Given the description of an element on the screen output the (x, y) to click on. 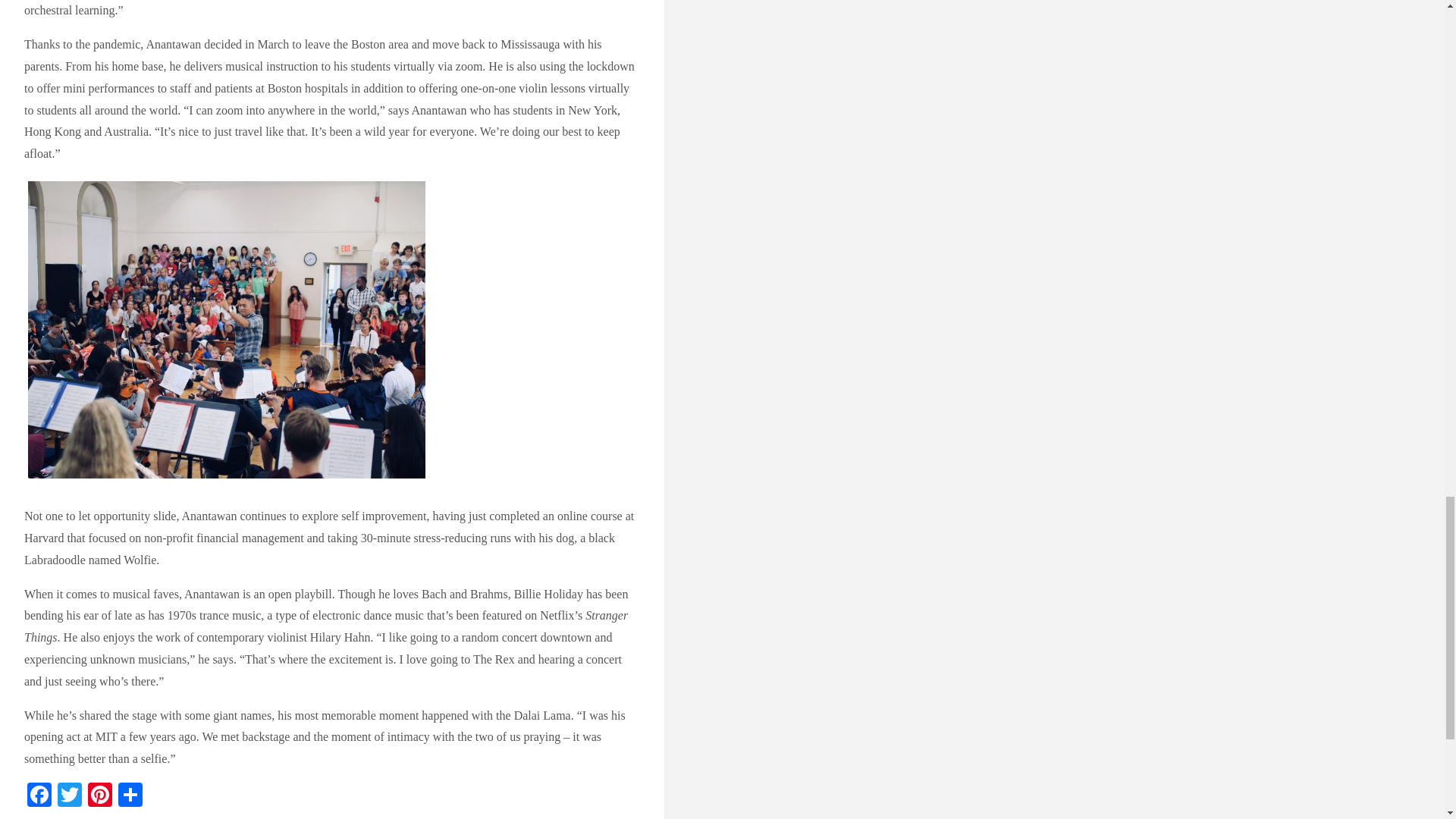
Share (130, 796)
Twitter (69, 796)
Pinterest (99, 796)
Twitter (69, 796)
Pinterest (99, 796)
Facebook (39, 796)
Facebook (39, 796)
